Given the description of an element on the screen output the (x, y) to click on. 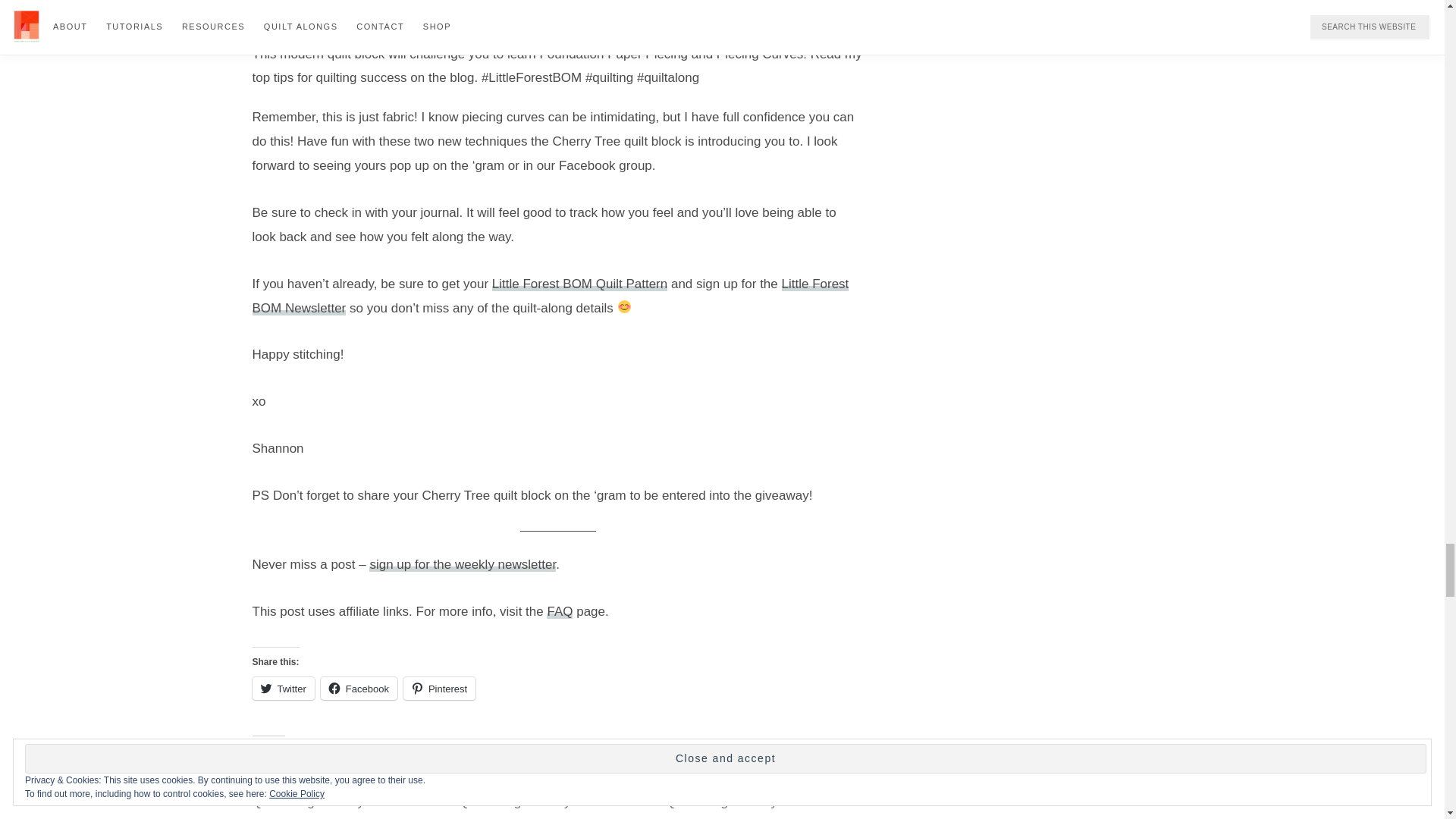
Striped Pine Block for the Little Forest BOM 2024 (761, 792)
Click to share on Pinterest (439, 688)
Lodgepole Block for the Little Forest BOM 2024 (554, 792)
Poplar Block for the Little Forest BOM 2024 (347, 792)
Click to share on Facebook (358, 688)
Click to share on Twitter (282, 688)
